Given the description of an element on the screen output the (x, y) to click on. 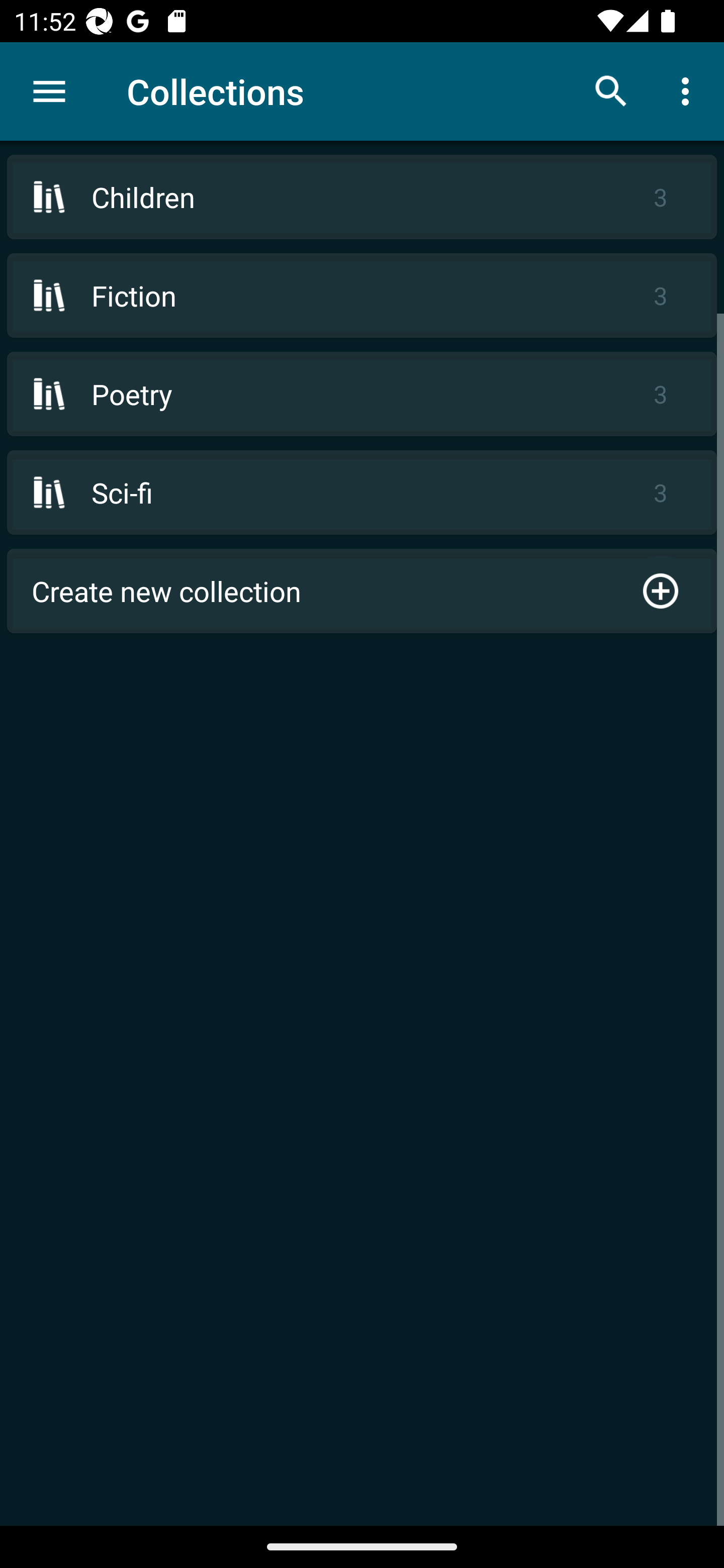
Menu (49, 91)
Search books & documents (611, 90)
More options (688, 90)
Children 3 (361, 197)
Fiction 3 (361, 295)
Poetry 3 (361, 393)
Sci-fi 3 (361, 492)
Create new collection (361, 590)
